Given the description of an element on the screen output the (x, y) to click on. 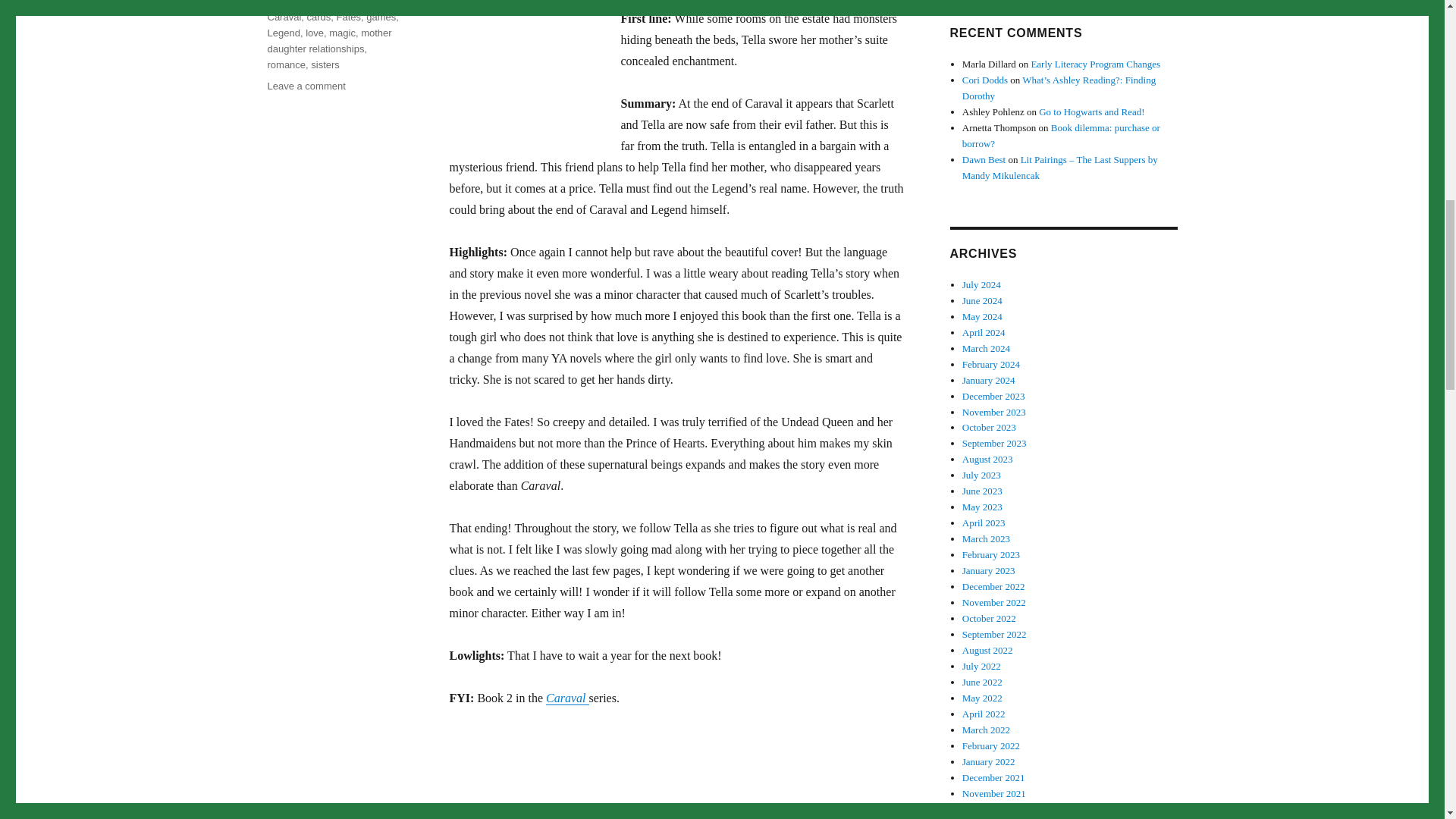
Legend (282, 32)
Book dilemma: purchase or borrow? (305, 85)
cards (1061, 135)
Fates (319, 16)
Dawn Best (348, 16)
Book review (984, 159)
games (293, 0)
sisters (381, 16)
April 2024 (325, 64)
Early Literacy Program Changes (984, 332)
May 2024 (1095, 63)
Cori Dodds (982, 316)
June 2024 (984, 79)
July 2024 (982, 300)
